Given the description of an element on the screen output the (x, y) to click on. 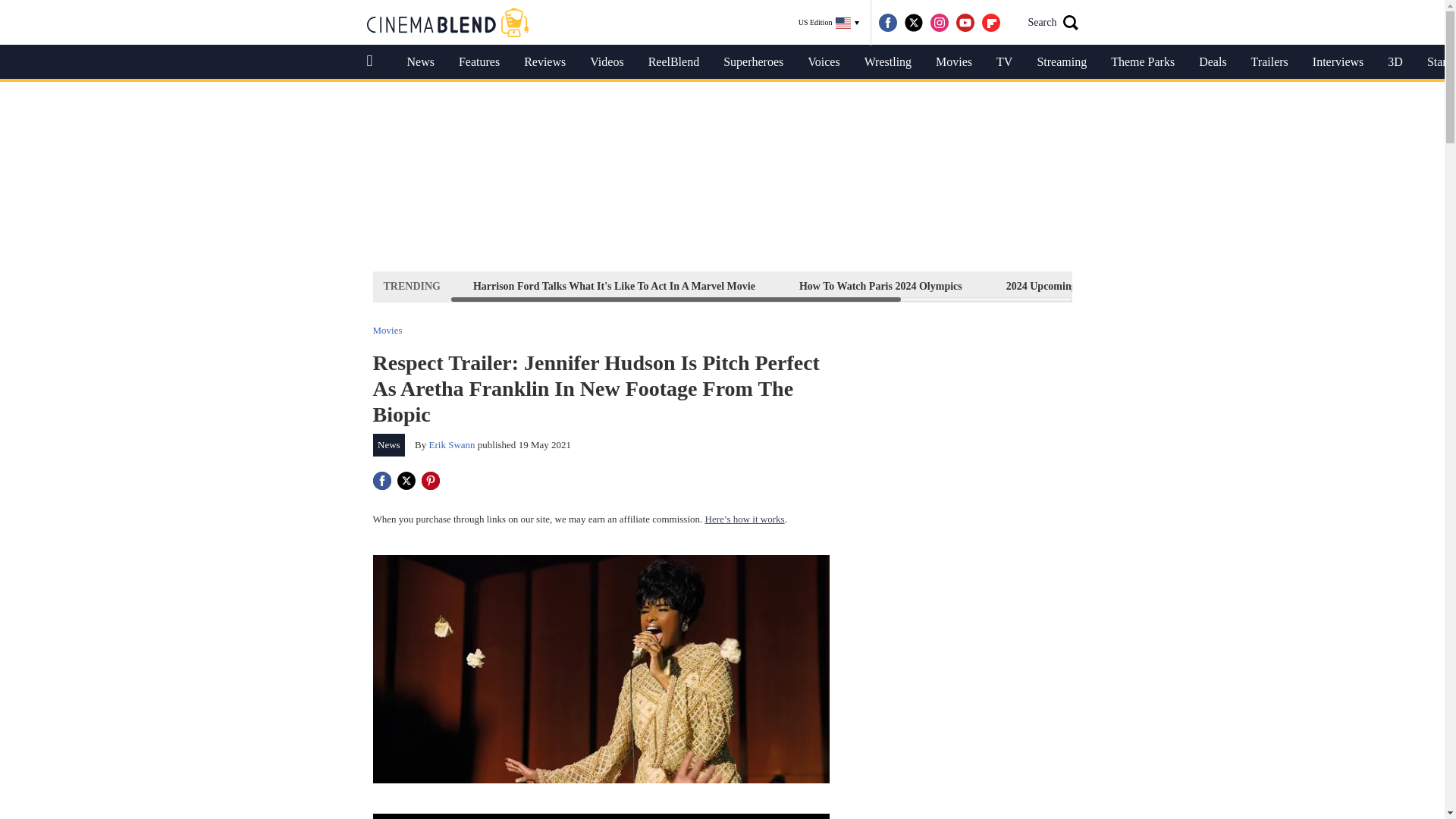
Trailers (1269, 61)
Superheroes (752, 61)
Voices (822, 61)
Videos (606, 61)
Harrison Ford Talks What It's Like To Act In A Marvel Movie (613, 286)
100 Best Sitcoms Of All Time (1221, 286)
TV (1004, 61)
Reviews (545, 61)
News (389, 445)
2024 Upcoming Movies (1058, 286)
Movies (387, 329)
Features (479, 61)
US Edition (828, 22)
News (419, 61)
ReelBlend (673, 61)
